Given the description of an element on the screen output the (x, y) to click on. 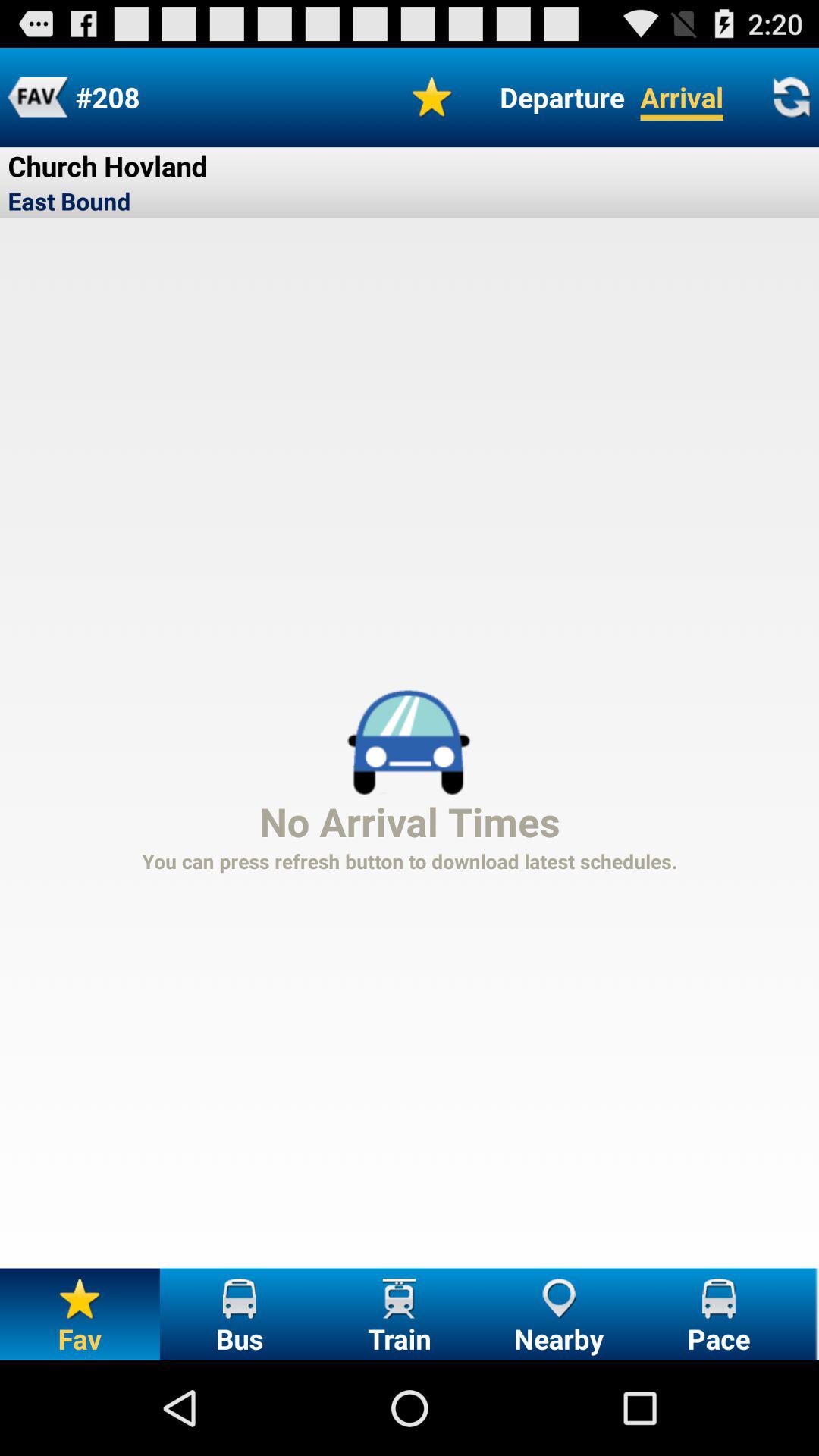
open item above no arrival times item (561, 97)
